Given the description of an element on the screen output the (x, y) to click on. 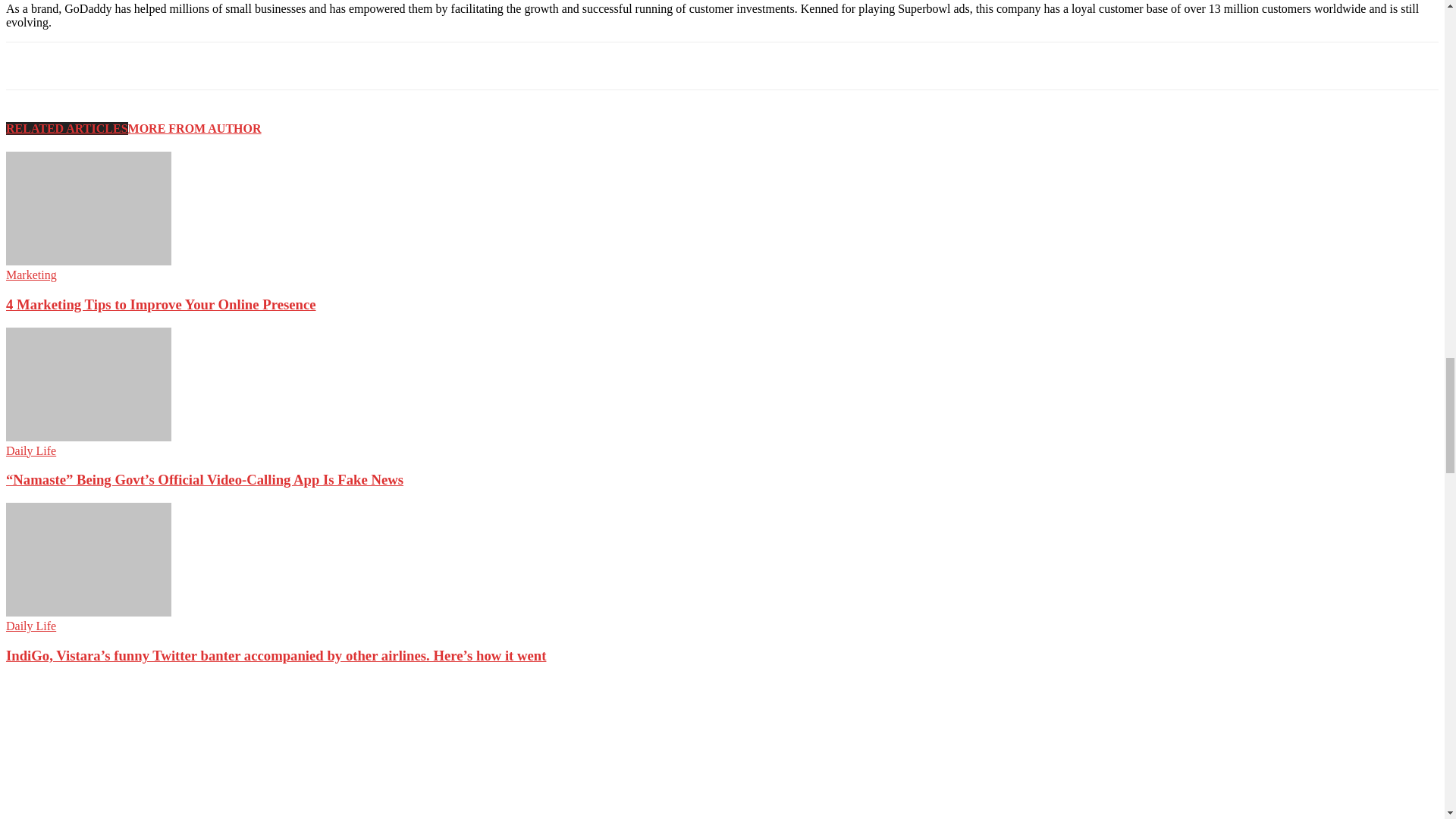
bottomFacebookLike (118, 66)
4 Marketing Tips to Improve Your Online Presence (88, 208)
4 Marketing Tips to Improve Your Online Presence (88, 260)
